Given the description of an element on the screen output the (x, y) to click on. 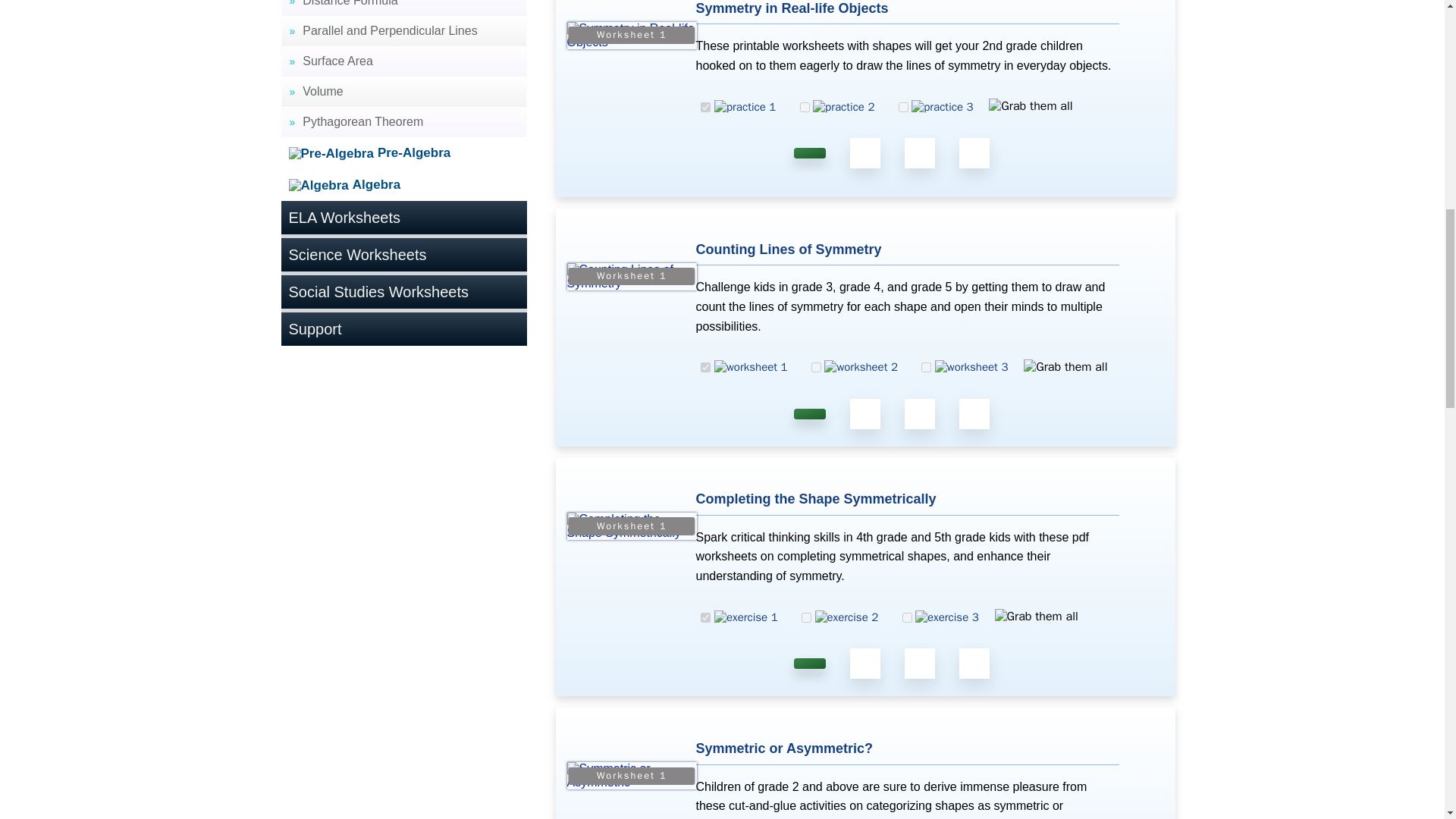
on (705, 107)
on (705, 617)
on (806, 617)
on (815, 367)
on (705, 367)
on (926, 367)
on (903, 107)
on (907, 617)
on (804, 107)
